Given the description of an element on the screen output the (x, y) to click on. 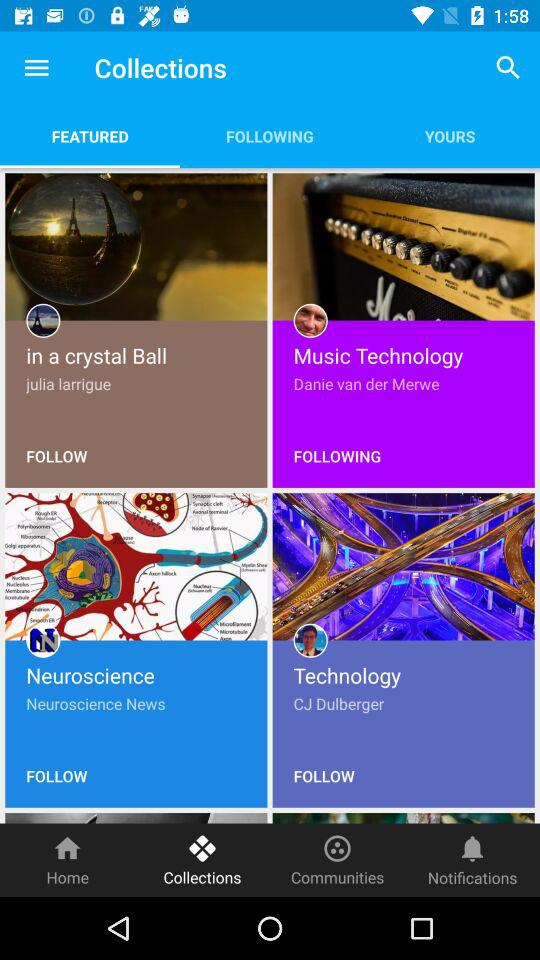
turn on item next to collections (337, 859)
